Given the description of an element on the screen output the (x, y) to click on. 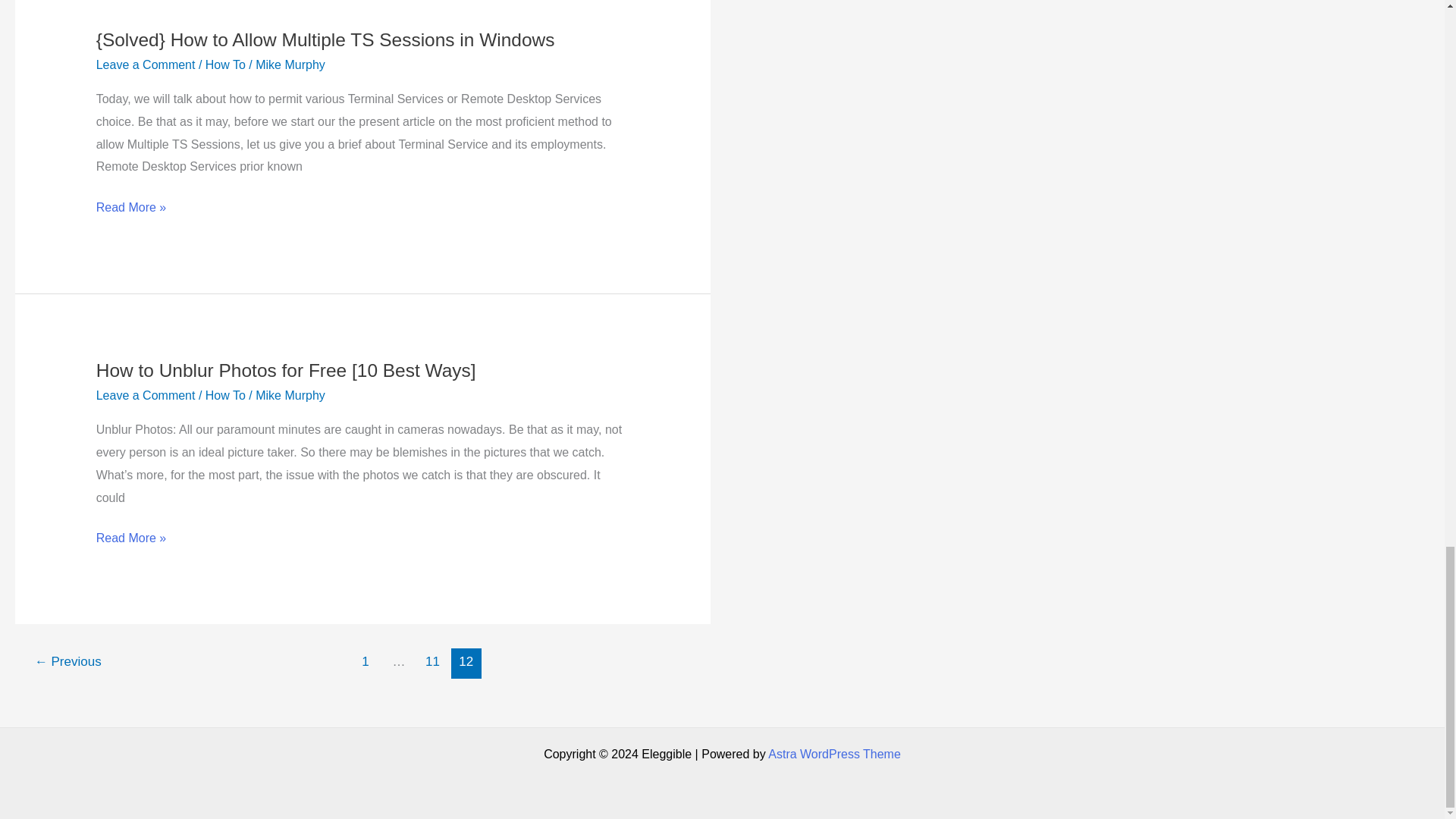
View all posts by Mike Murphy (290, 64)
View all posts by Mike Murphy (290, 395)
